Given the description of an element on the screen output the (x, y) to click on. 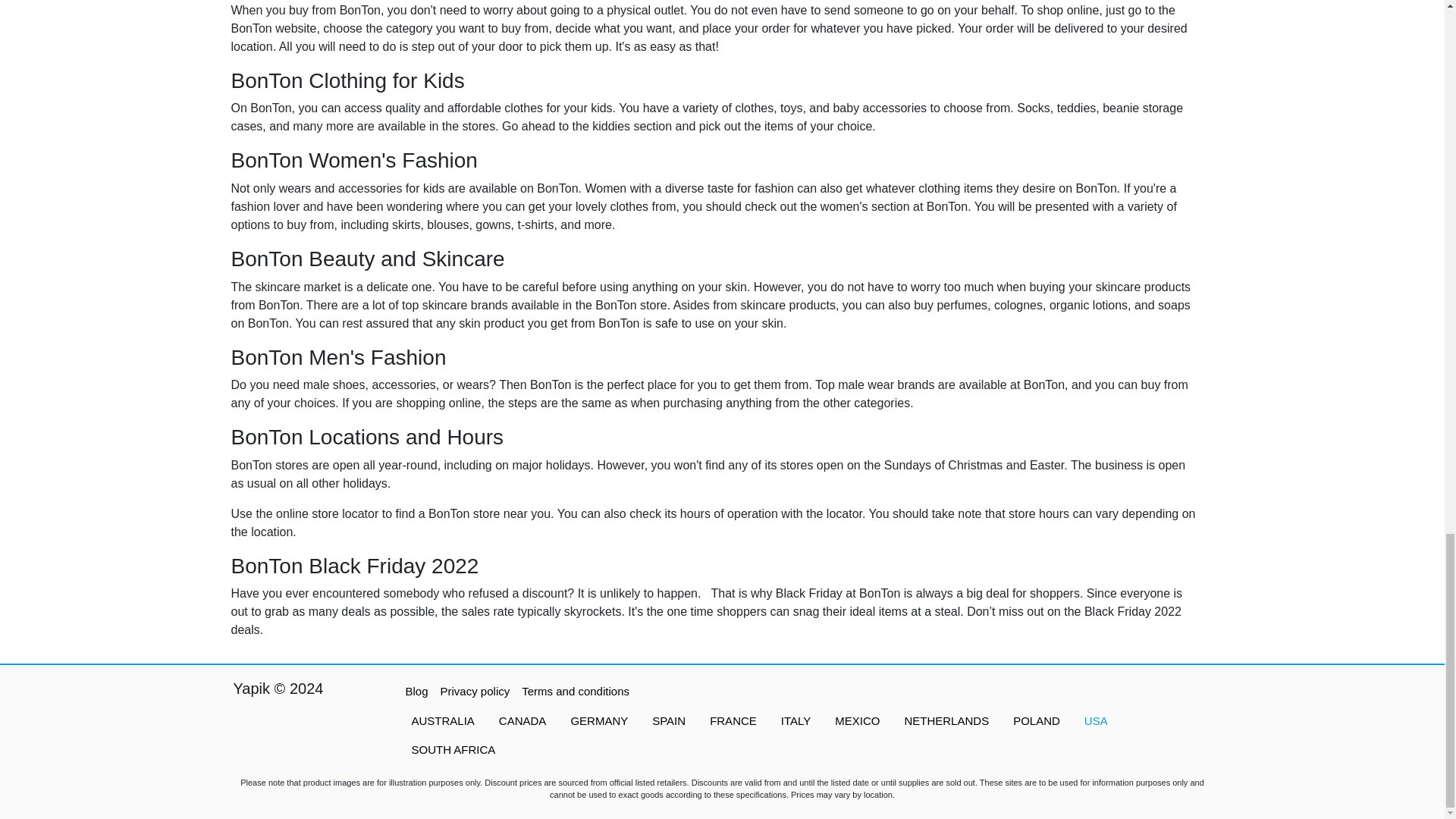
Canada (522, 721)
Italy (795, 721)
Poland (1036, 721)
Netherlands (946, 721)
Mexico (856, 721)
USA (1095, 721)
France (732, 721)
Australia (442, 721)
South Africa (452, 749)
Germany (598, 721)
Spain (668, 721)
